Given the description of an element on the screen output the (x, y) to click on. 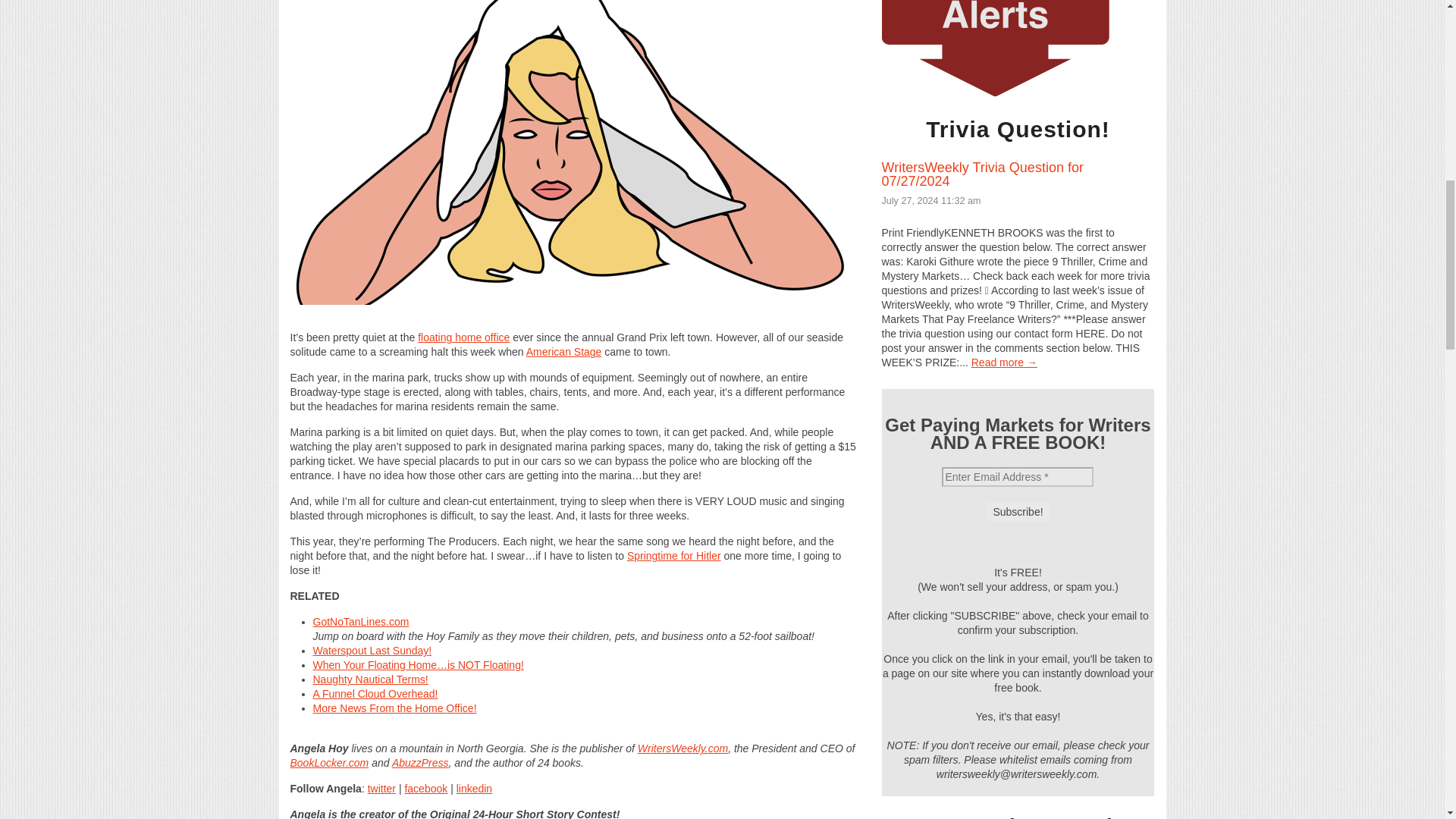
More News From the Home Office! (394, 707)
A Funnel Cloud Overhead! (375, 693)
American Stage (563, 351)
GotNoTanLines.com (361, 621)
Naughty Nautical Terms! (370, 679)
Waterspout Last Sunday! (371, 650)
Enter Email Address (1017, 476)
Print Friendly (573, 323)
floating home office (463, 337)
